Given the description of an element on the screen output the (x, y) to click on. 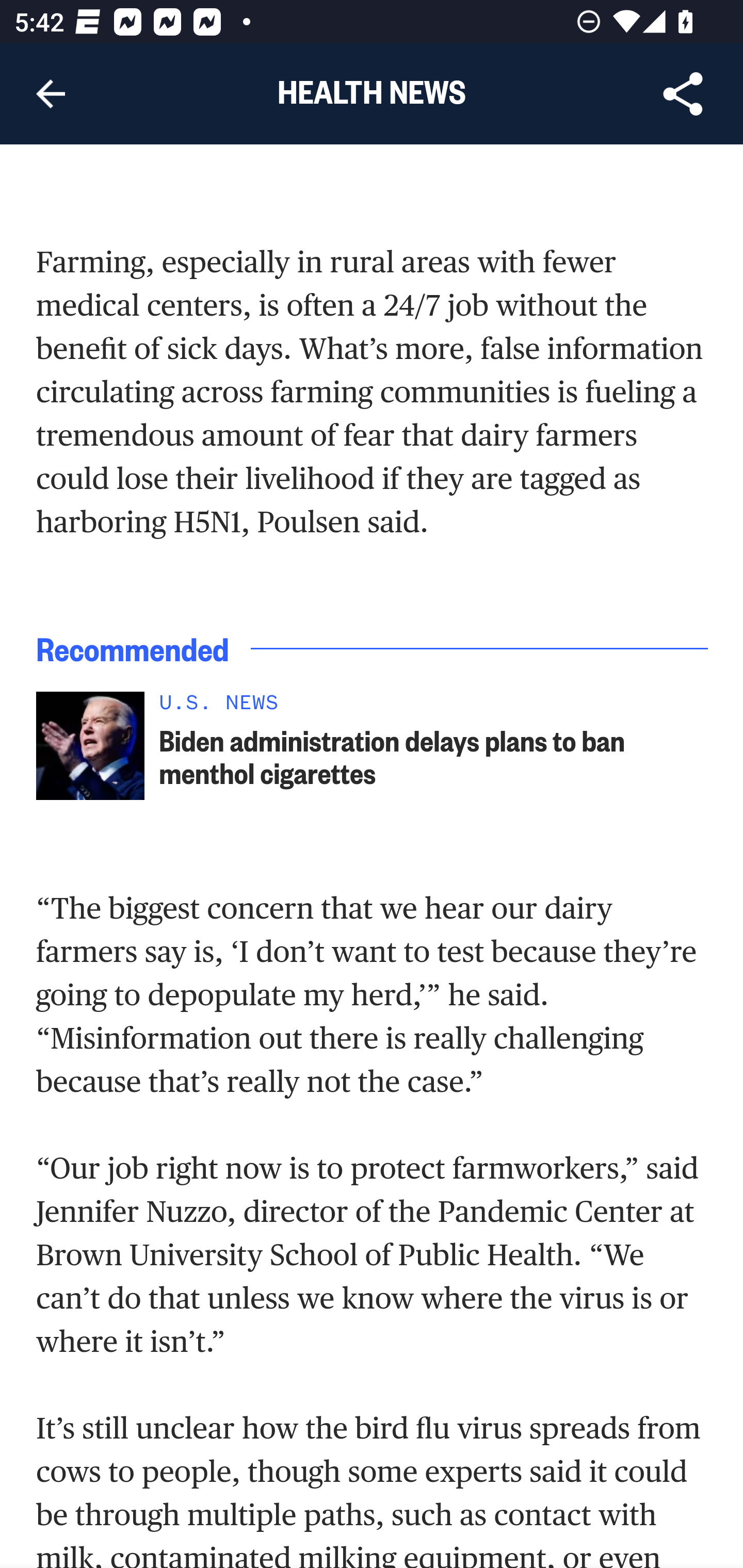
Navigate up (50, 93)
Share Article, button (683, 94)
U.S. NEWS (434, 707)
